Given the description of an element on the screen output the (x, y) to click on. 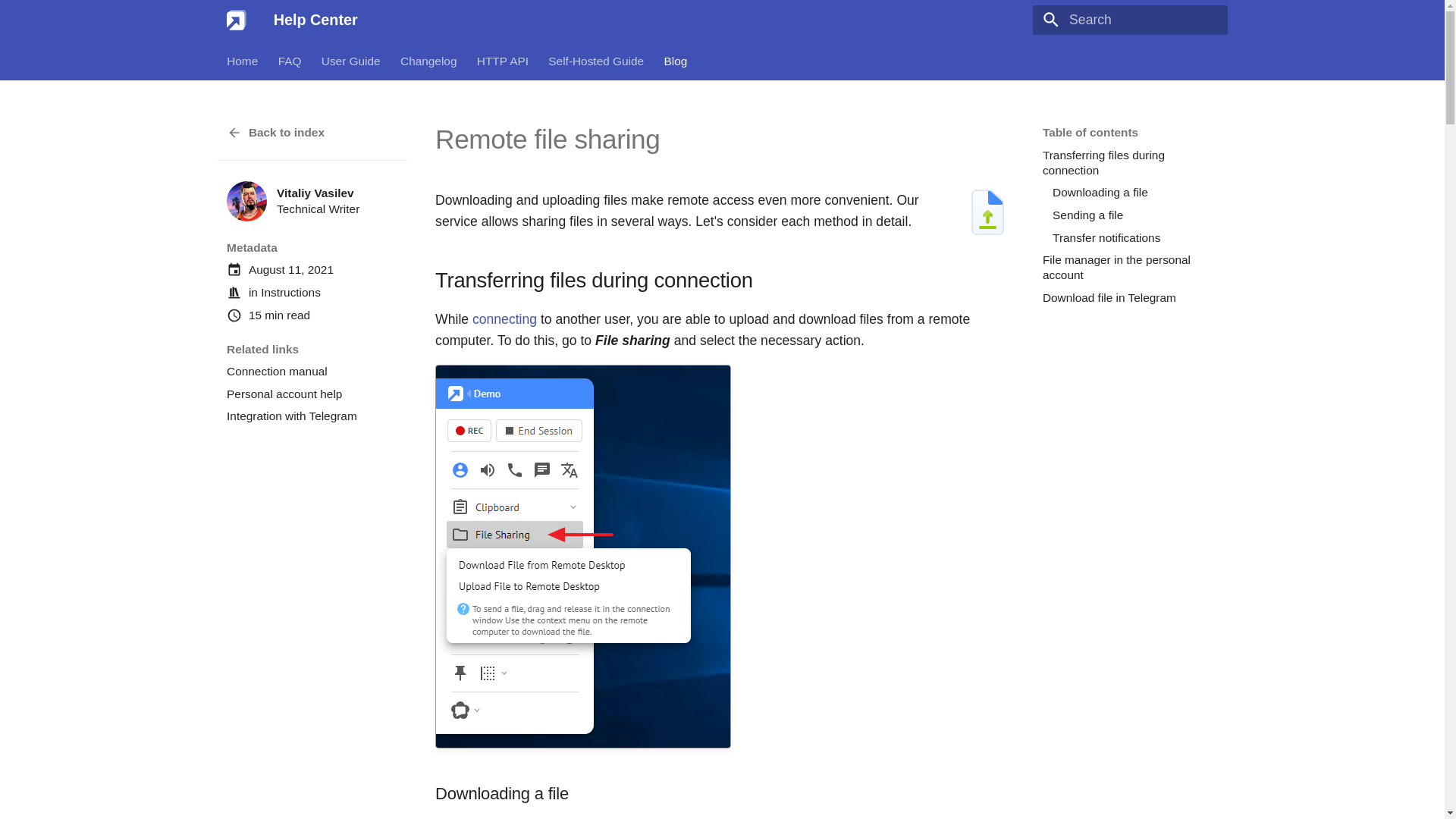
Instructions (290, 291)
Downloading a file (1133, 192)
connecting (504, 319)
Transferring files during connection (1128, 163)
Back to index (312, 132)
Personal account help (312, 394)
Sending a file (1133, 215)
FAQ (289, 60)
Self-Hosted Guide (595, 60)
Home (242, 60)
Connection manual (312, 371)
HTTP API (502, 60)
Changelog (428, 60)
Help Center (236, 19)
User Guide (350, 60)
